Given the description of an element on the screen output the (x, y) to click on. 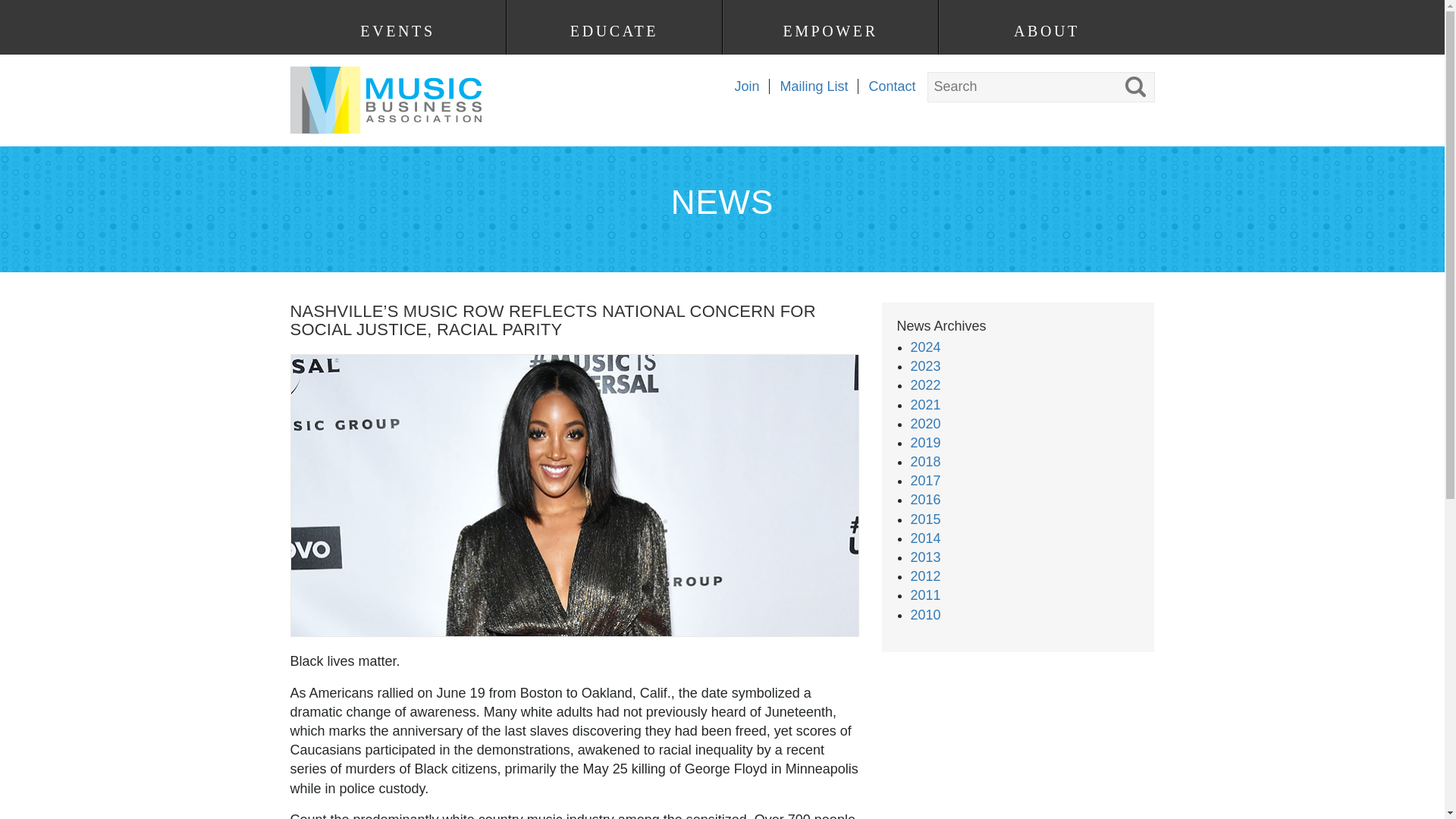
Join (740, 86)
EVENTS (397, 31)
EDUCATE (613, 31)
Mailing List (807, 86)
EMPOWER (830, 31)
Search (27, 10)
ABOUT (1046, 31)
Contact (886, 86)
